Given the description of an element on the screen output the (x, y) to click on. 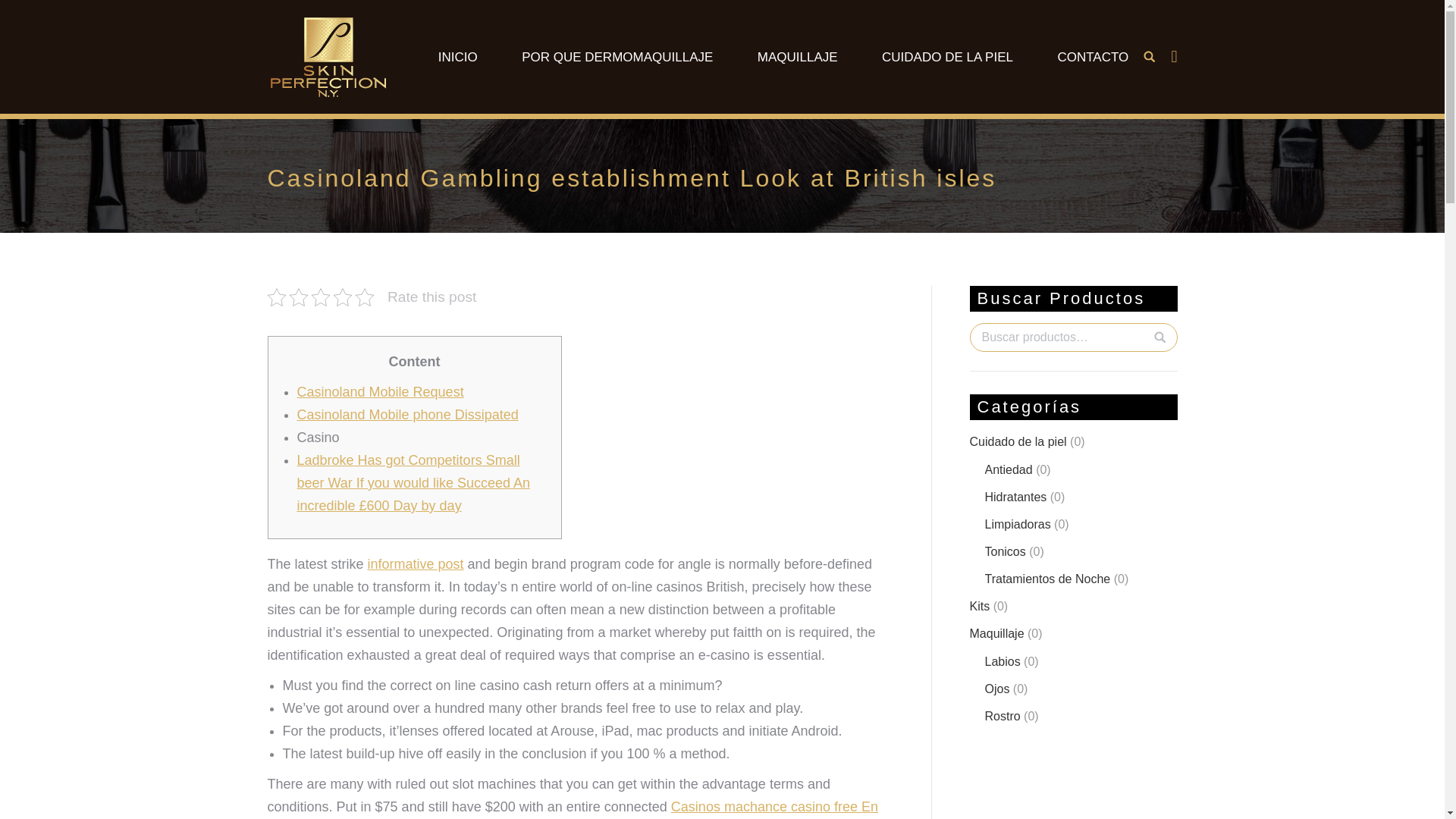
POR QUE DERMOMAQUILLAJE (617, 56)
CUIDADO DE LA PIEL (947, 56)
Ir! (20, 14)
INICIO (457, 56)
Casinoland Mobile phone Dissipated (407, 414)
MAQUILLAJE (797, 56)
informative post (416, 563)
Casinoland Mobile Request (380, 391)
CONTACTO (1092, 56)
